Given the description of an element on the screen output the (x, y) to click on. 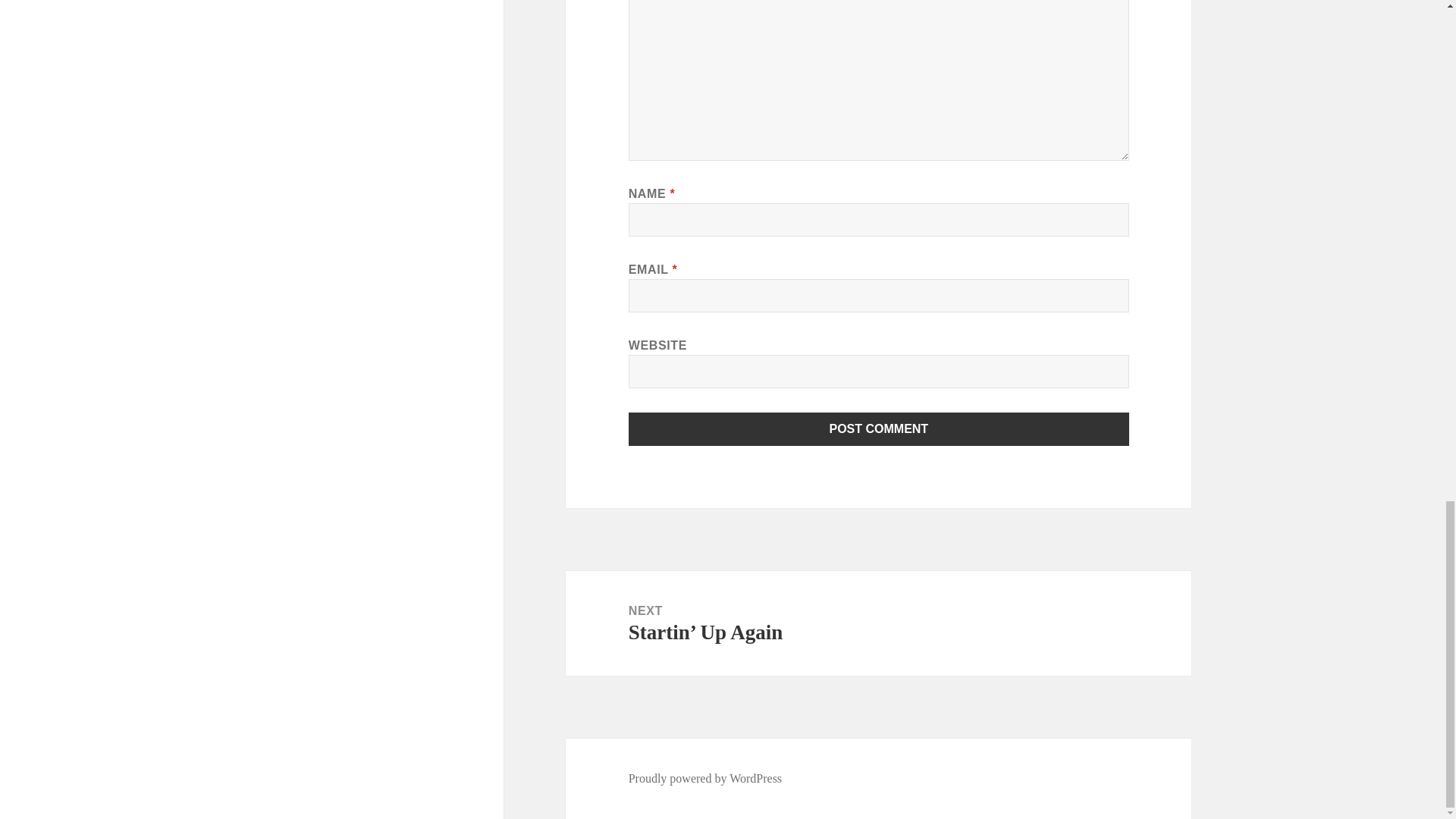
Post Comment (878, 428)
Post Comment (878, 428)
Proudly powered by WordPress (704, 778)
